Given the description of an element on the screen output the (x, y) to click on. 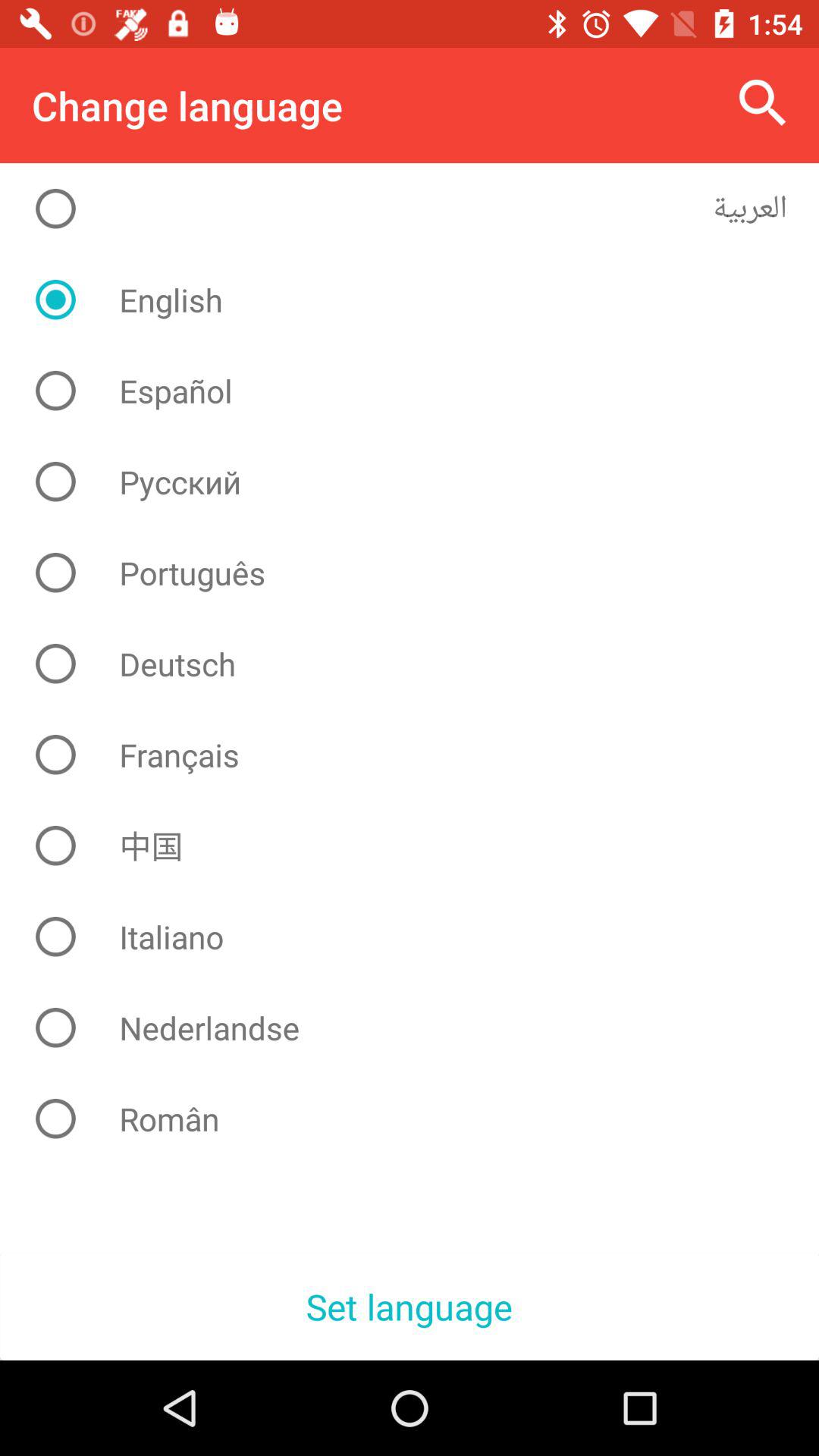
turn off the item above italiano (421, 845)
